Given the description of an element on the screen output the (x, y) to click on. 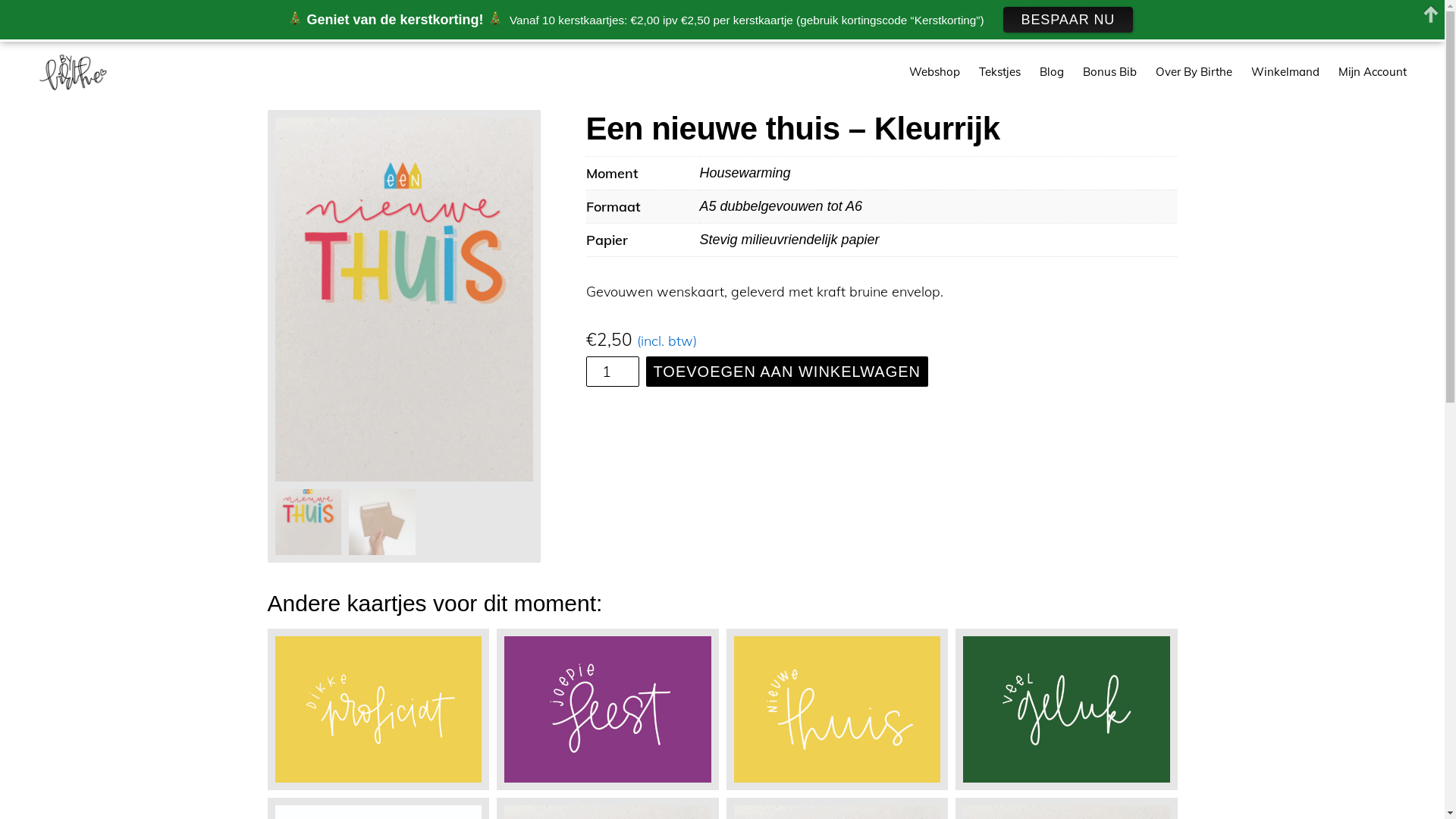
Privacybeleid Element type: text (838, 783)
Skip to primary navigation Element type: text (0, 41)
Winkelmand Element type: text (1285, 71)
Webshop Element type: text (934, 71)
Over By Birthe Element type: text (1193, 71)
Bootstrapped Ventures Element type: text (663, 783)
TOEVOEGEN AAN WINKELWAGEN Element type: text (787, 371)
Bonus Bib Element type: text (1109, 71)
Mijn Account Element type: text (1372, 71)
Tekstjes Element type: text (999, 71)
Blog Element type: text (1051, 71)
